Given the description of an element on the screen output the (x, y) to click on. 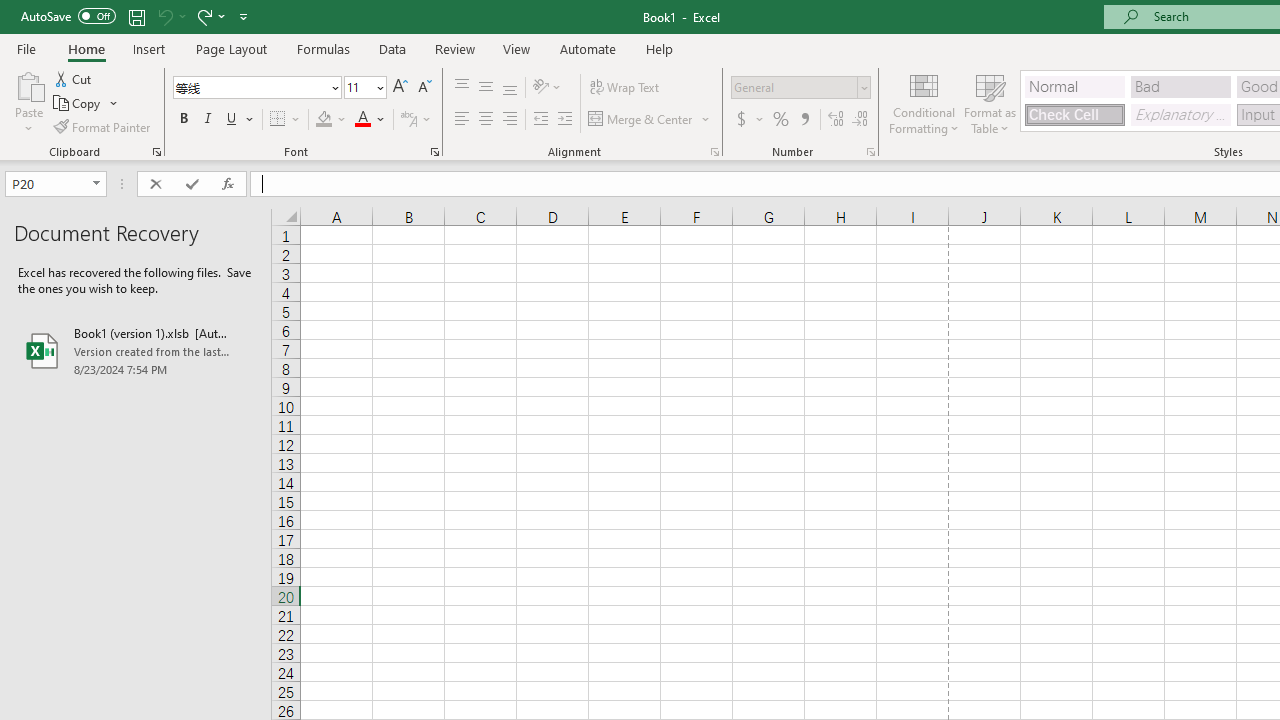
Show Phonetic Field (416, 119)
Underline (239, 119)
Decrease Indent (540, 119)
AutoSave (68, 16)
Show Phonetic Field (408, 119)
Font Color (370, 119)
Copy (85, 103)
Accounting Number Format (741, 119)
Customize Quick Access Toolbar (244, 15)
Underline (232, 119)
Book1 (version 1).xlsb  [AutoRecovered] (136, 350)
